Given the description of an element on the screen output the (x, y) to click on. 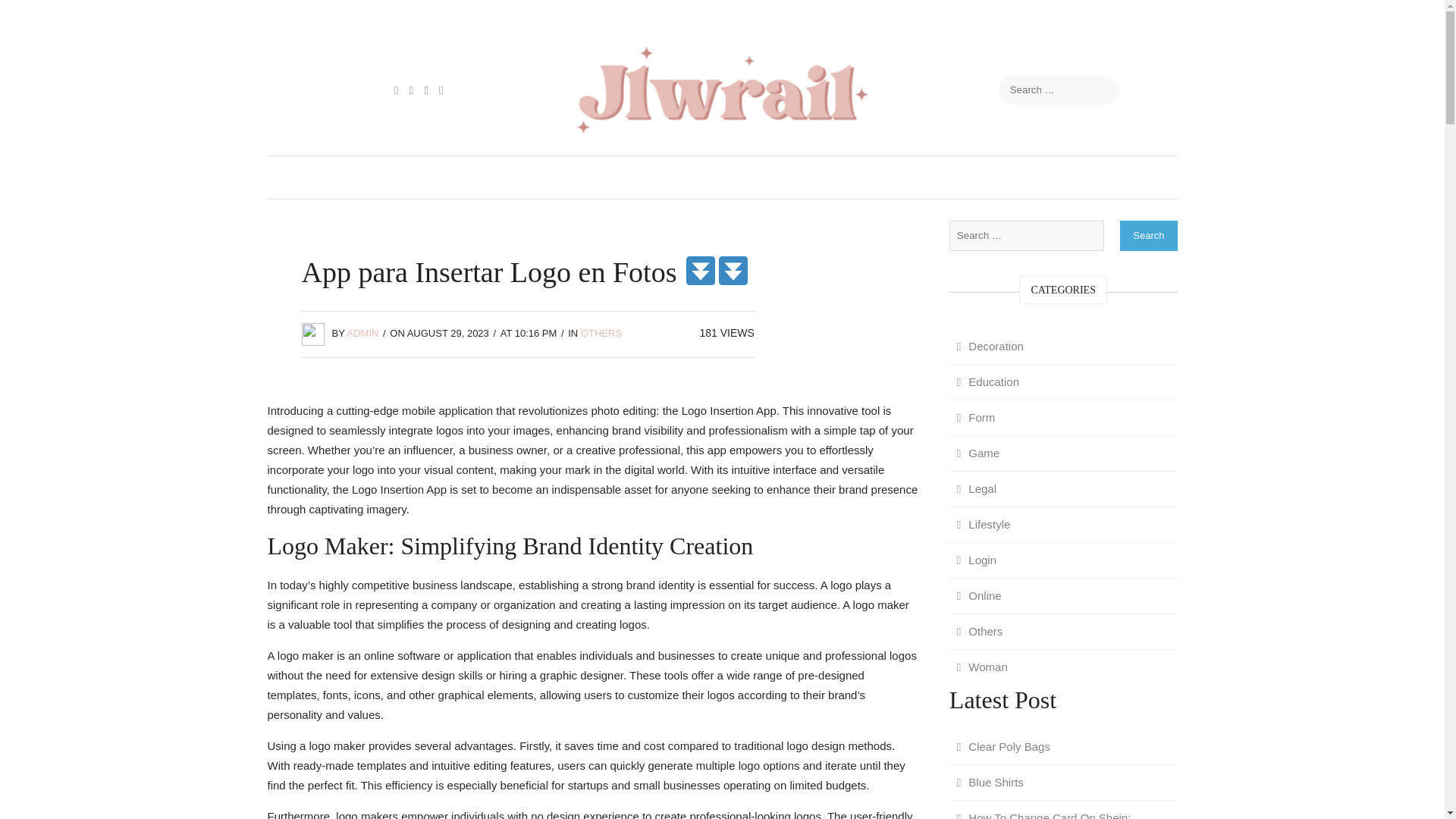
DECORATION (540, 177)
LEGAL (769, 177)
Form (976, 417)
EDUCATION (367, 177)
FORM (629, 177)
Decoration (989, 346)
WOMAN (1087, 177)
Search (1147, 235)
ONLINE (1009, 177)
Game (978, 452)
Legal (976, 488)
Posts by admin (362, 333)
Search (1147, 235)
OTHERS (600, 333)
Lifestyle (983, 524)
